Given the description of an element on the screen output the (x, y) to click on. 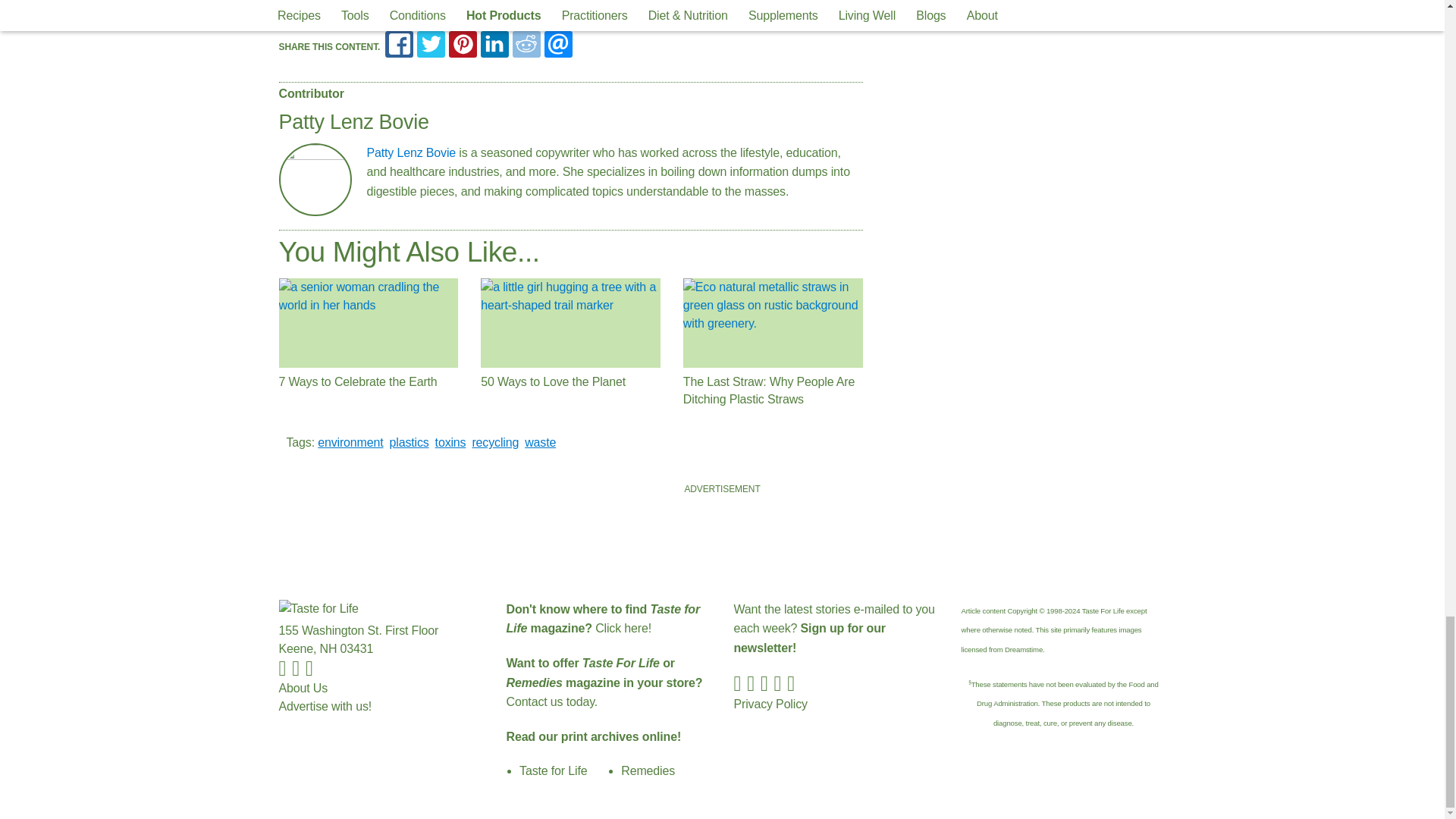
Taste for Life (336, 610)
7 Ways to Celebrate the Earth (368, 322)
The Last Straw: Why People Are Ditching Plastic Straws (772, 322)
50 Ways to Love the Planet (570, 322)
